Given the description of an element on the screen output the (x, y) to click on. 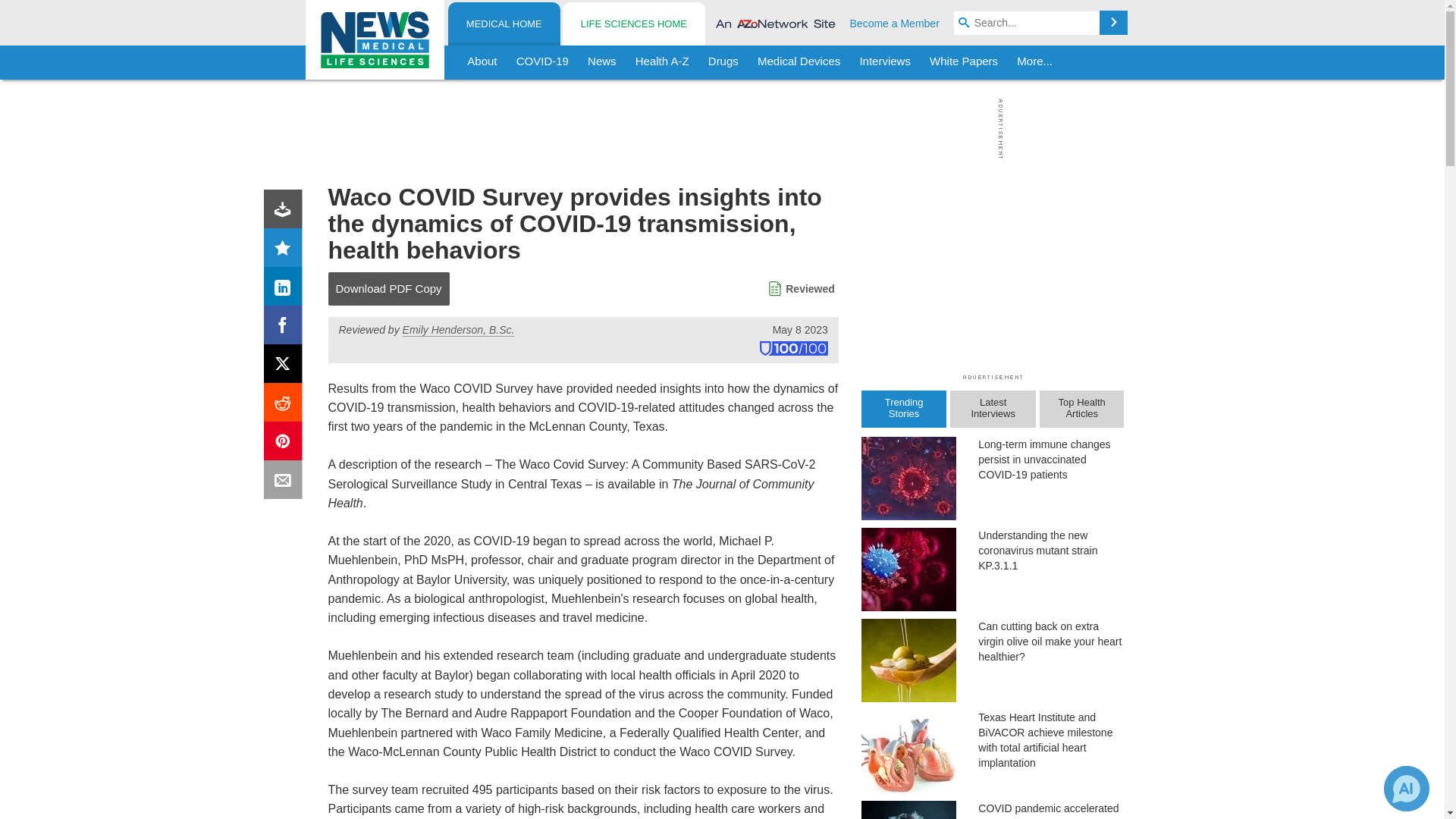
X (285, 366)
Become a Member (894, 22)
COVID-19 (542, 62)
Facebook (285, 328)
Search (1112, 22)
Download PDF copy (285, 212)
About (482, 62)
Drugs (722, 62)
More... (1035, 62)
Email (285, 483)
Reddit (285, 405)
White Papers (963, 62)
Interviews (884, 62)
News (601, 62)
Health A-Z (662, 62)
